Given the description of an element on the screen output the (x, y) to click on. 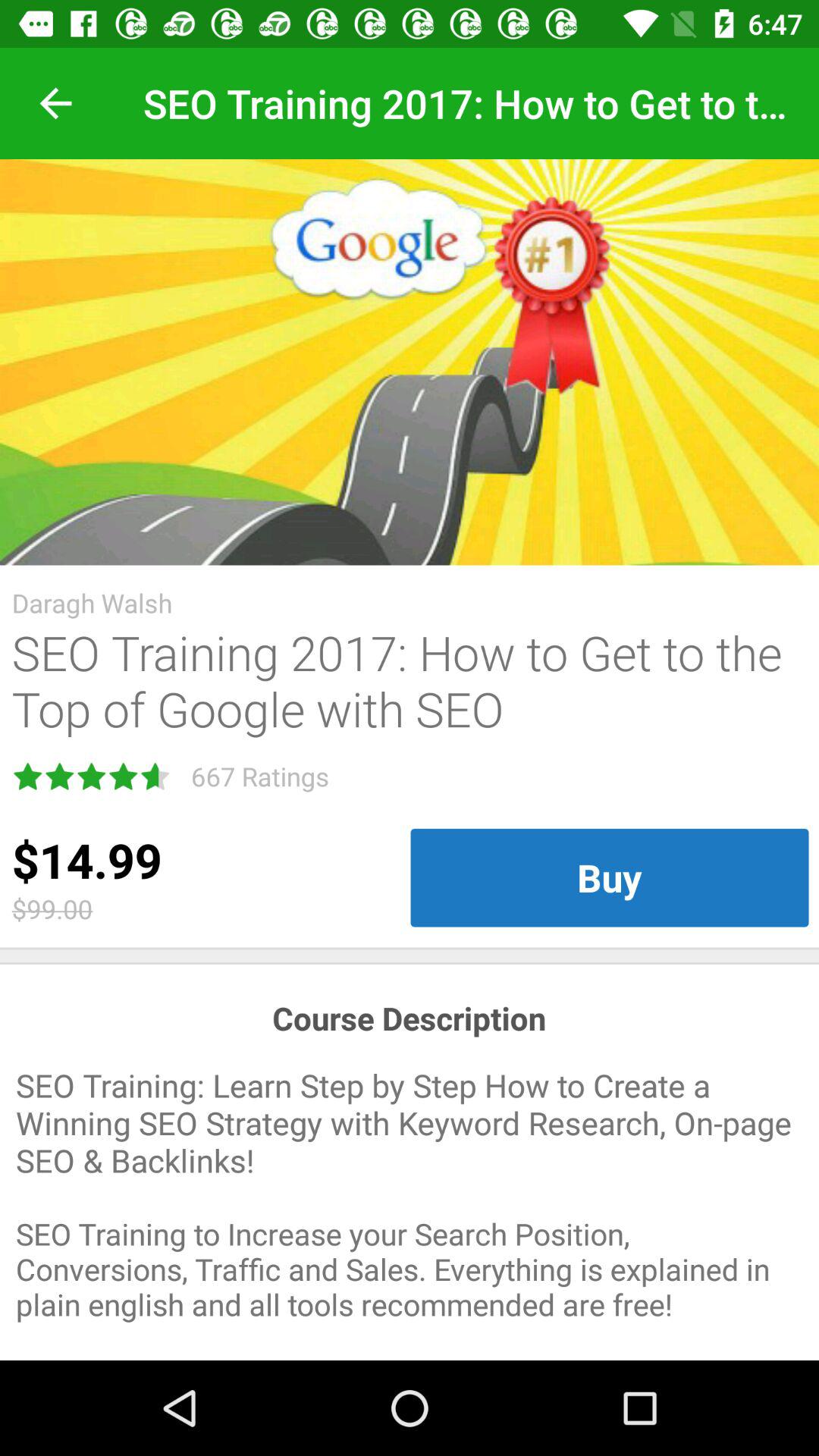
click item next to the $14.99 icon (609, 877)
